Given the description of an element on the screen output the (x, y) to click on. 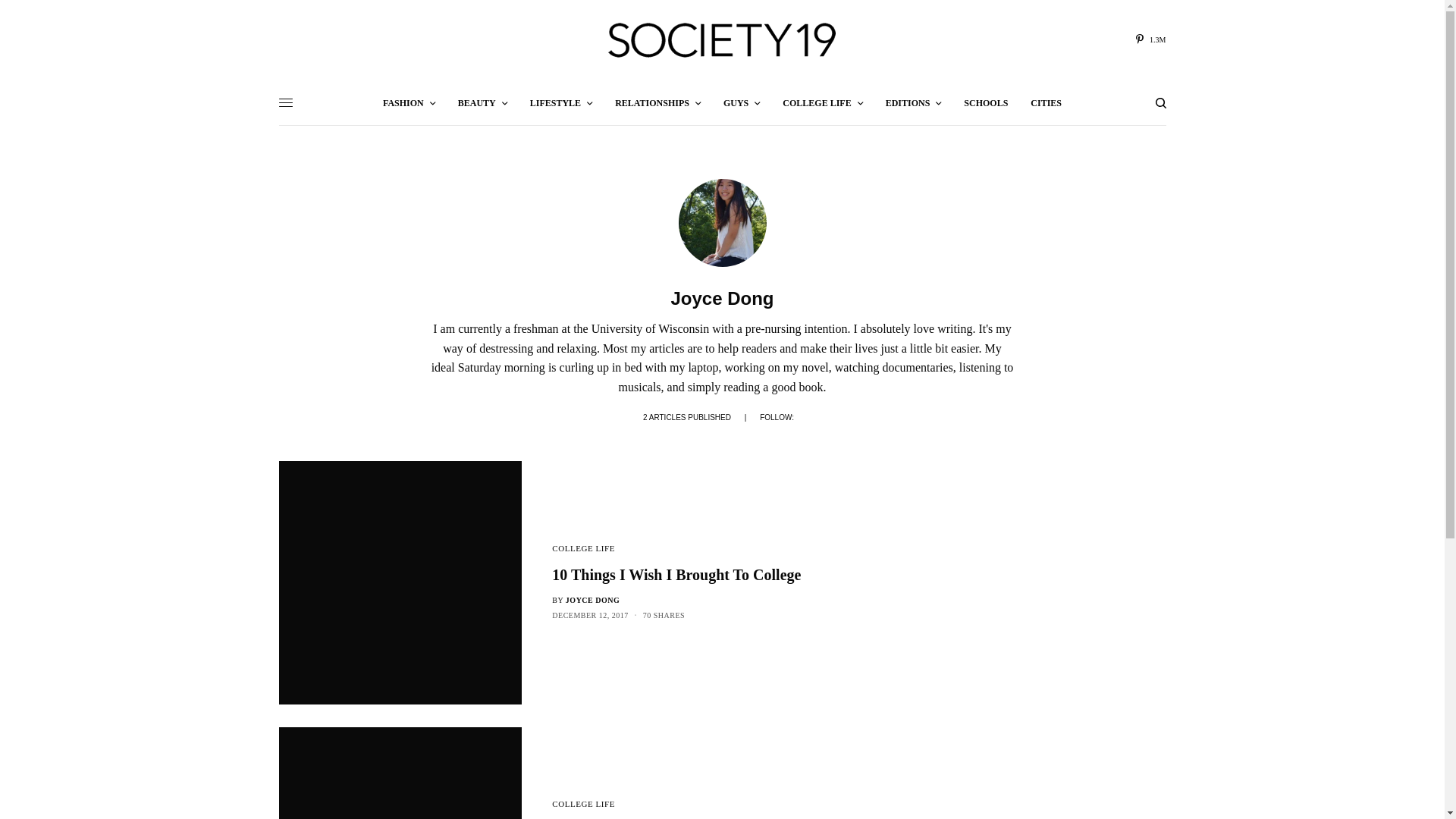
Posts by Joyce Dong (593, 600)
Society19 (721, 39)
10 Things I Wish I Brought To College (706, 574)
